Given the description of an element on the screen output the (x, y) to click on. 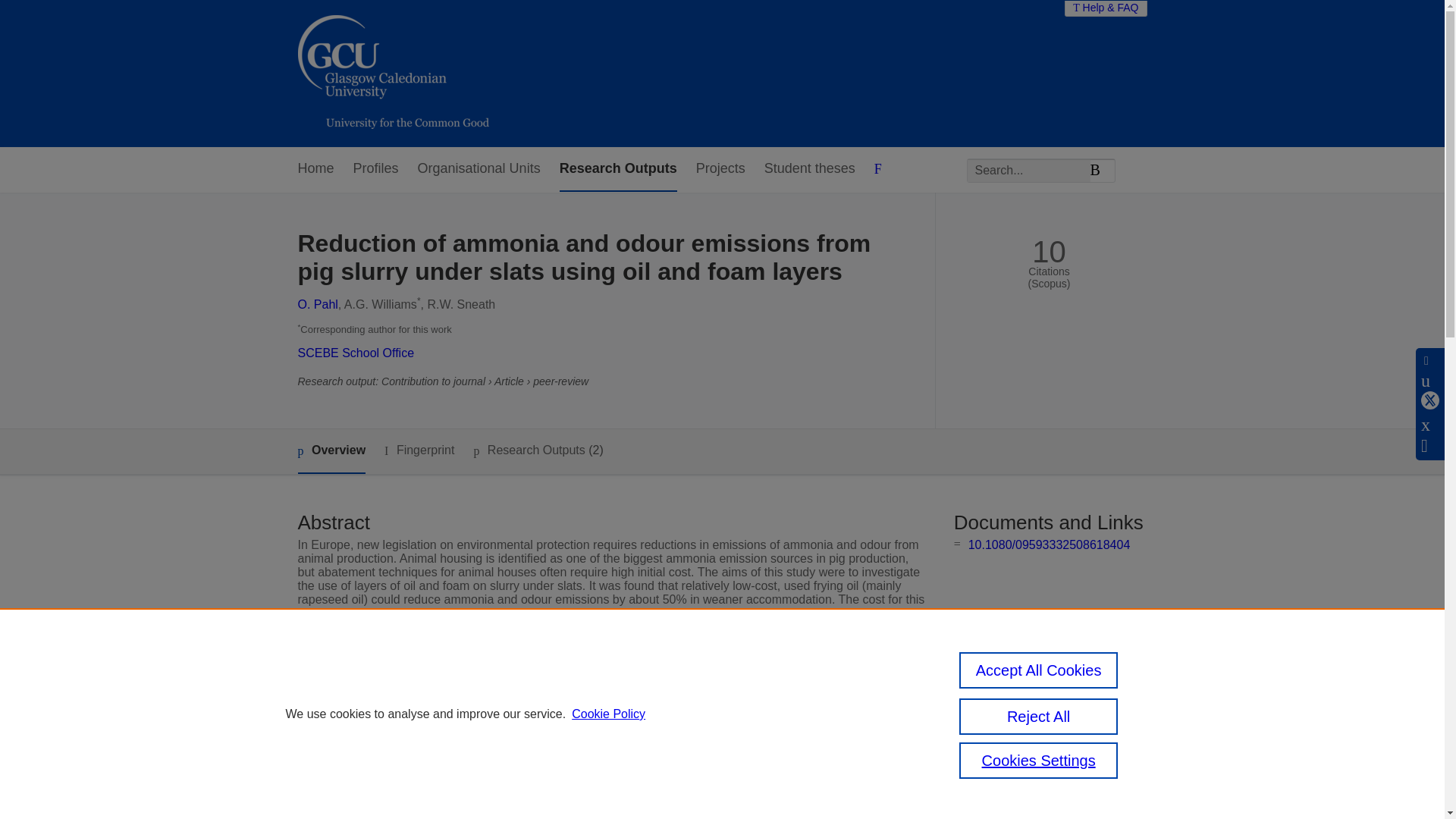
O. Pahl (317, 304)
Projects (720, 169)
SCEBE School Office (355, 352)
Organisational Units (478, 169)
Profiles (375, 169)
Overview (331, 451)
Fingerprint (419, 450)
Environmental Technology (580, 717)
Student theses (810, 169)
Research Outputs (618, 169)
